Given the description of an element on the screen output the (x, y) to click on. 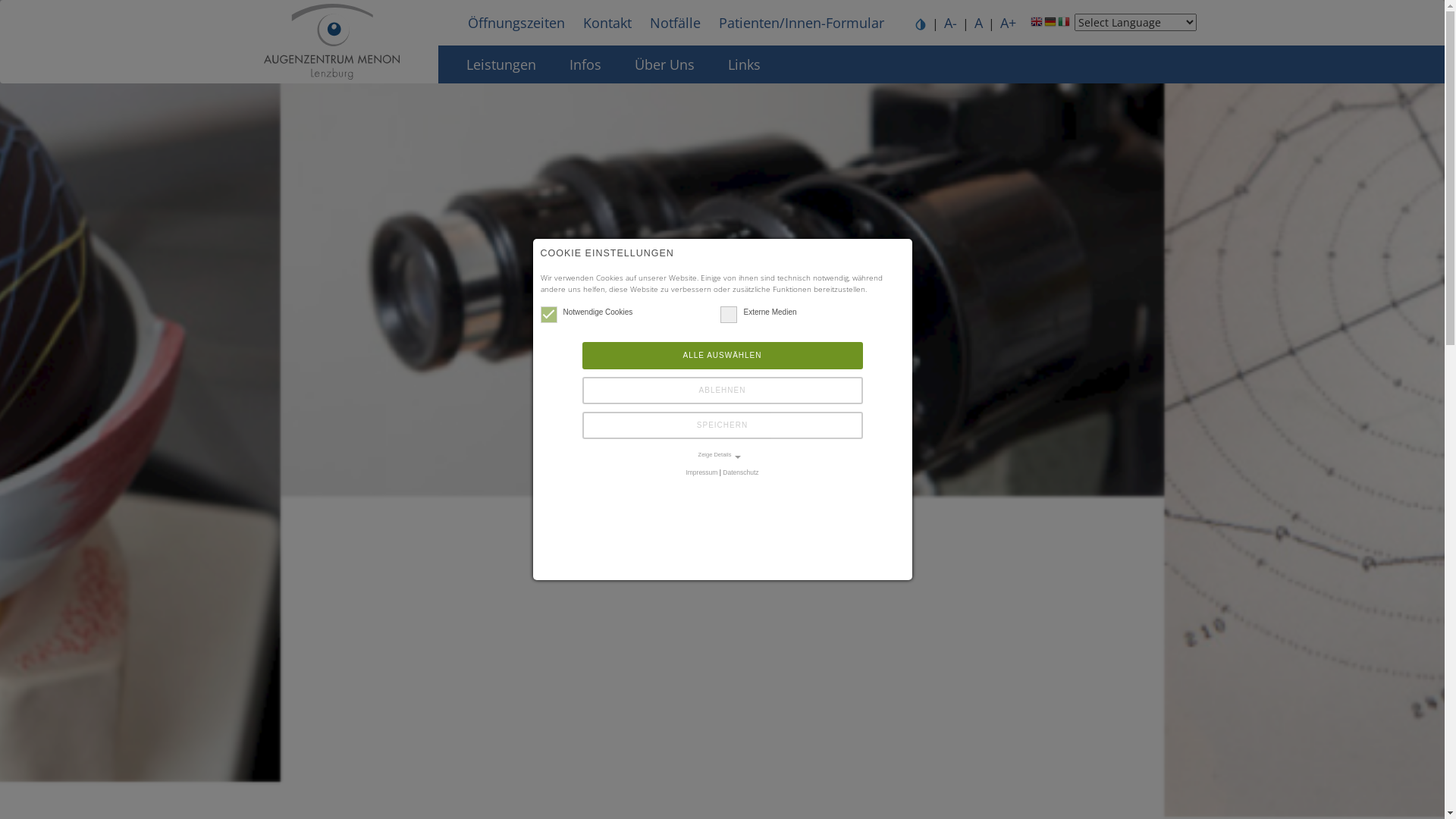
ABLEHNEN Element type: text (722, 390)
Datenschutz Element type: text (740, 472)
Impressum Element type: text (701, 472)
Italian Element type: hover (1063, 24)
Kontakt Element type: text (606, 22)
Patienten/Innen-Formular Element type: text (801, 22)
Infos Element type: text (584, 64)
A Element type: text (978, 22)
A+ Element type: text (1007, 22)
Links Element type: text (744, 64)
A- Element type: text (950, 22)
English Element type: hover (1036, 24)
Leistungen Element type: text (500, 64)
German Element type: hover (1050, 24)
SPEICHERN Element type: text (722, 425)
Zeige Details Element type: text (721, 454)
